Given the description of an element on the screen output the (x, y) to click on. 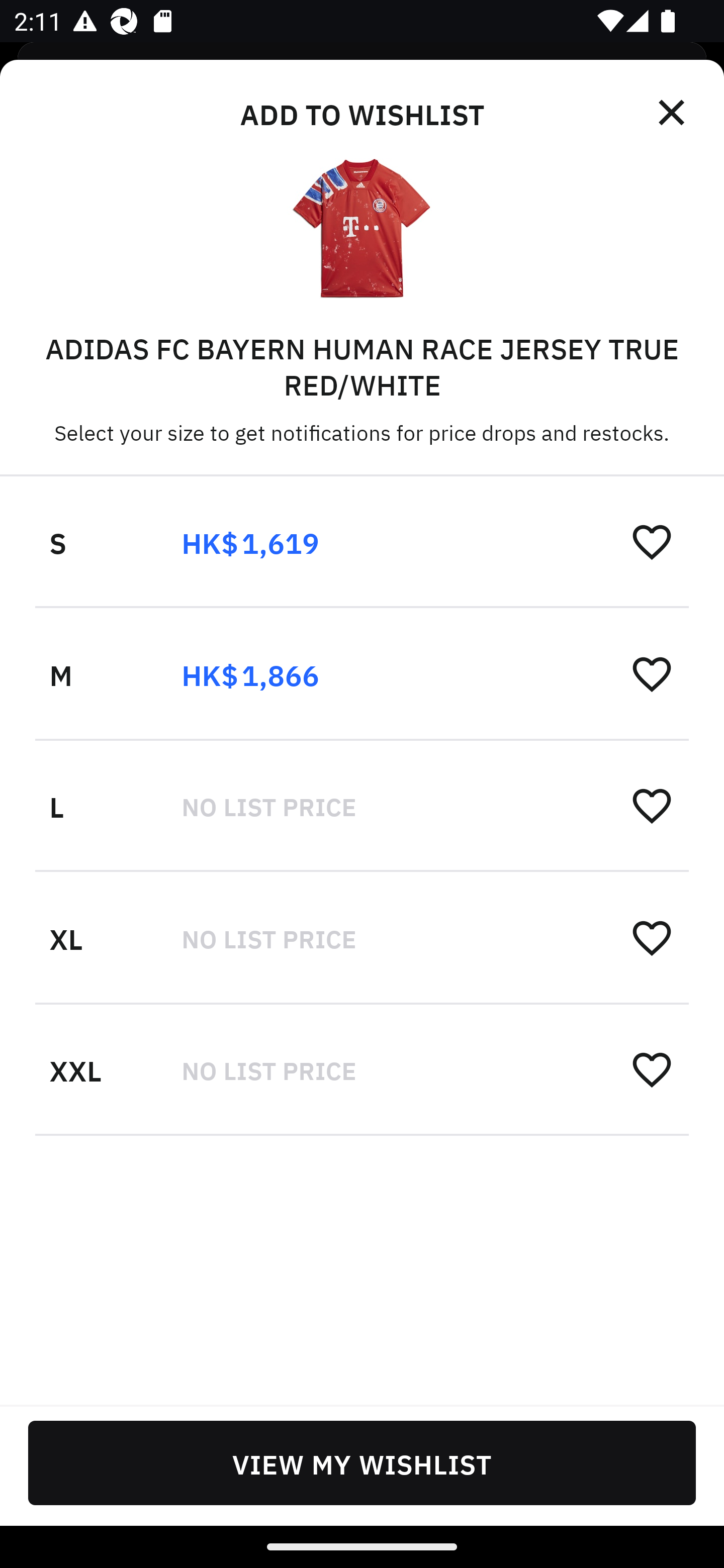
 (672, 112)
󰋕 (651, 541)
󰋕 (651, 673)
󰋕 (651, 804)
󰋕 (651, 936)
󰋕 (651, 1068)
VIEW MY WISHLIST (361, 1462)
